Given the description of an element on the screen output the (x, y) to click on. 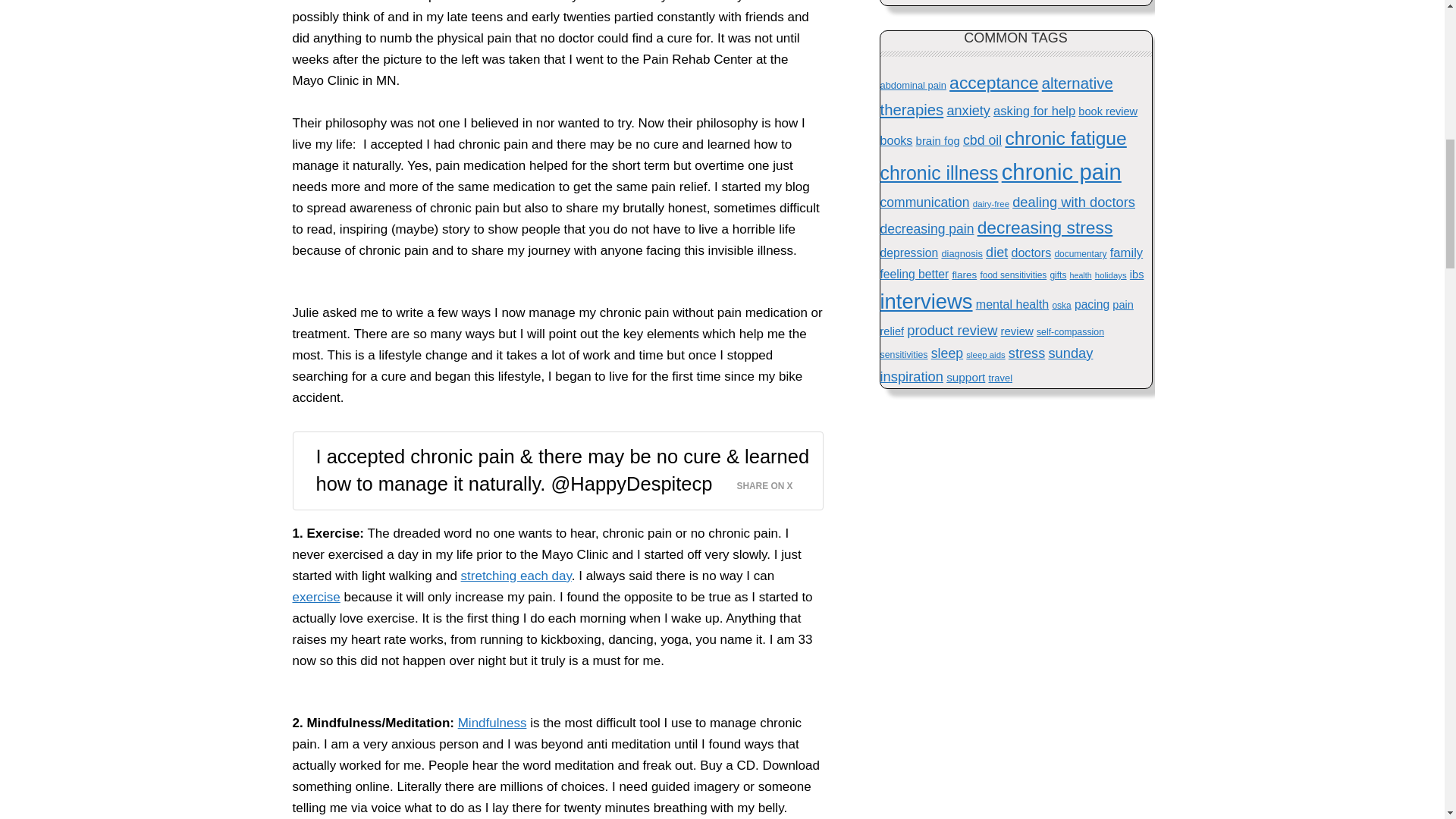
stretching each day (516, 575)
SHARE ON X (773, 482)
Mindfulness (492, 722)
exercise (316, 596)
